Given the description of an element on the screen output the (x, y) to click on. 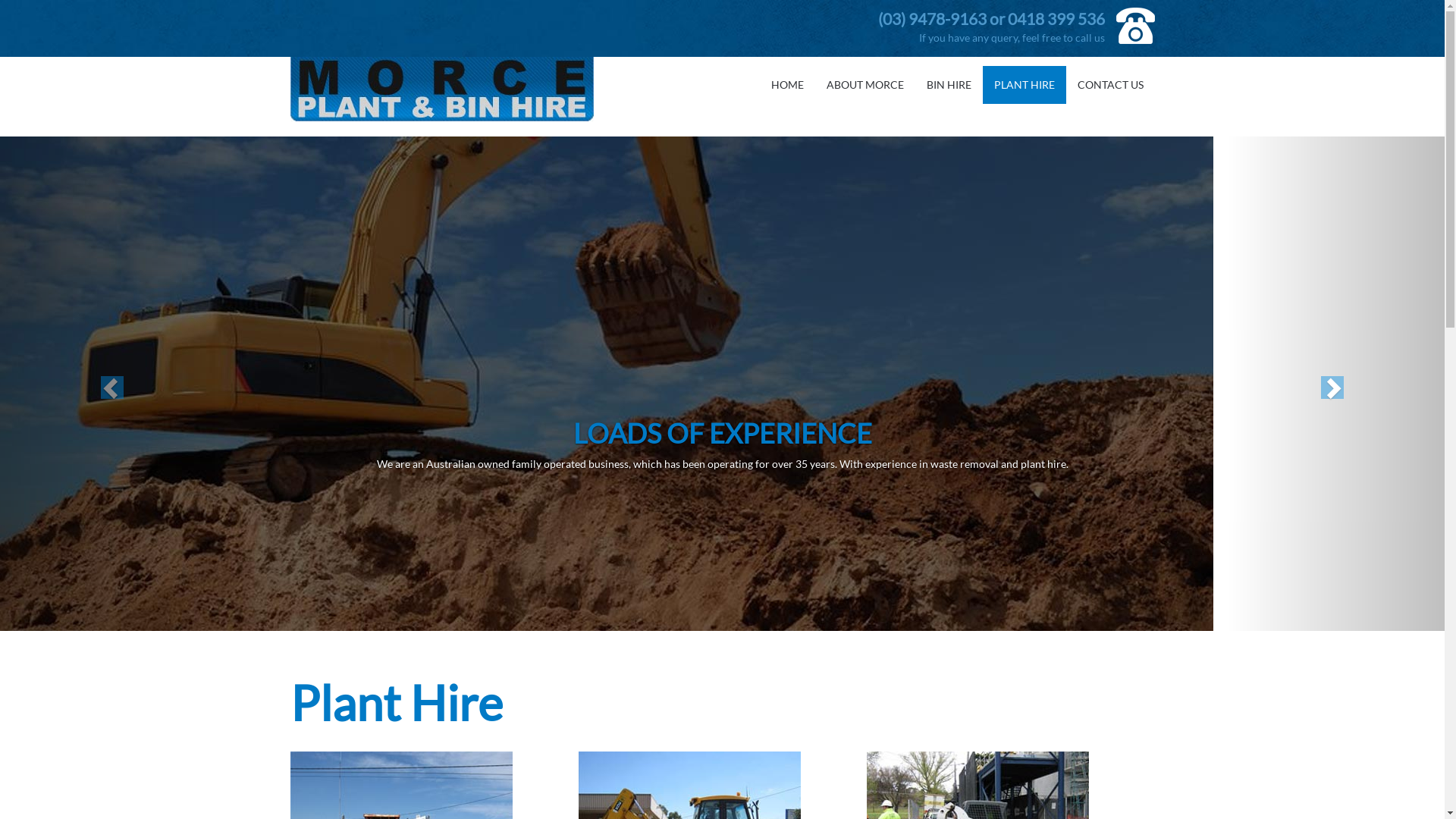
CONTACT US Element type: text (1110, 84)
PLANT HIRE Element type: text (1024, 84)
ABOUT MORCE Element type: text (864, 84)
HOME Element type: text (787, 84)
BIN HIRE Element type: text (948, 84)
